Given the description of an element on the screen output the (x, y) to click on. 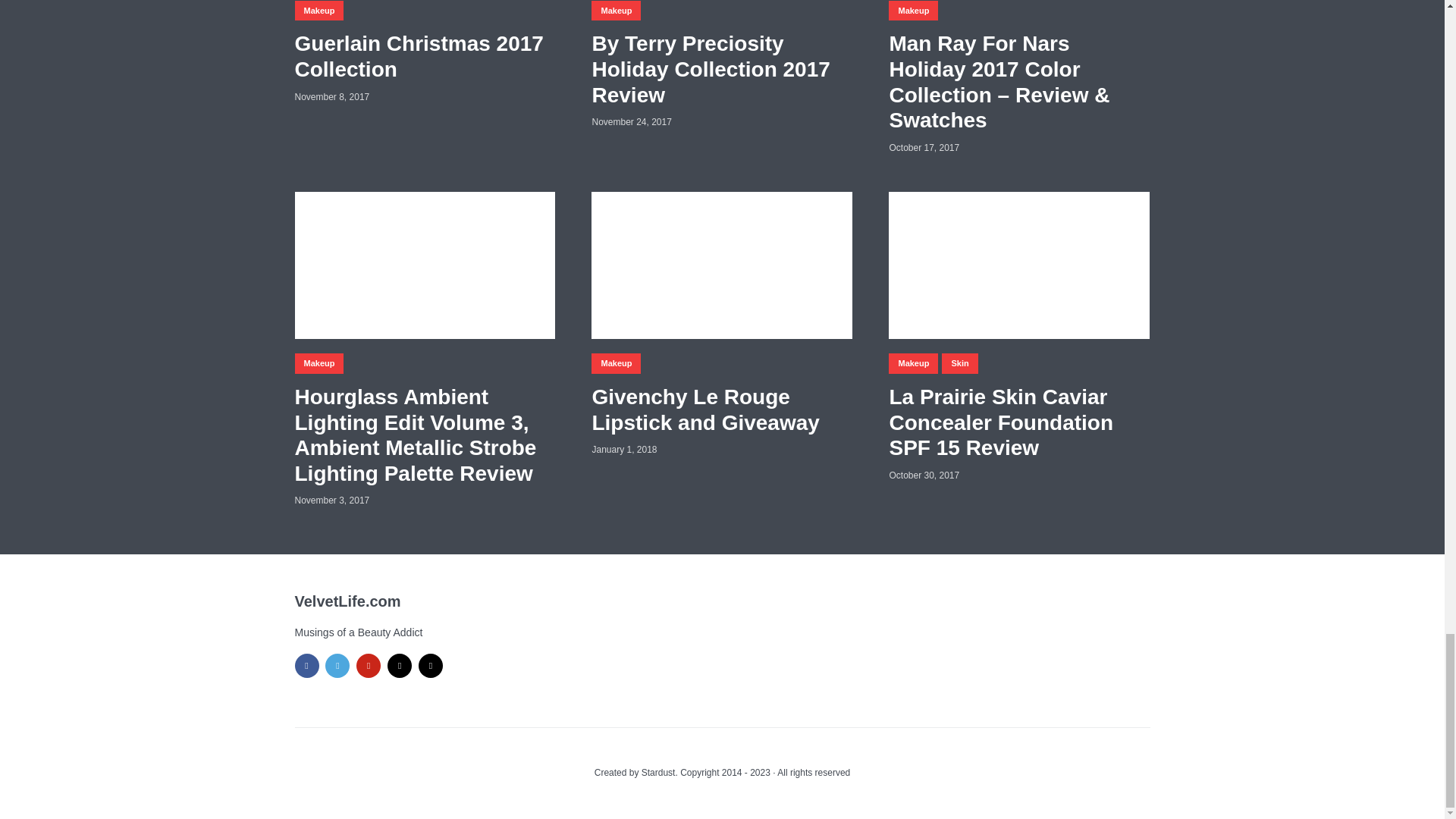
Instagram (430, 665)
Facebook (306, 665)
BLOGLOVIN' (399, 665)
Pinterest (368, 665)
